Given the description of an element on the screen output the (x, y) to click on. 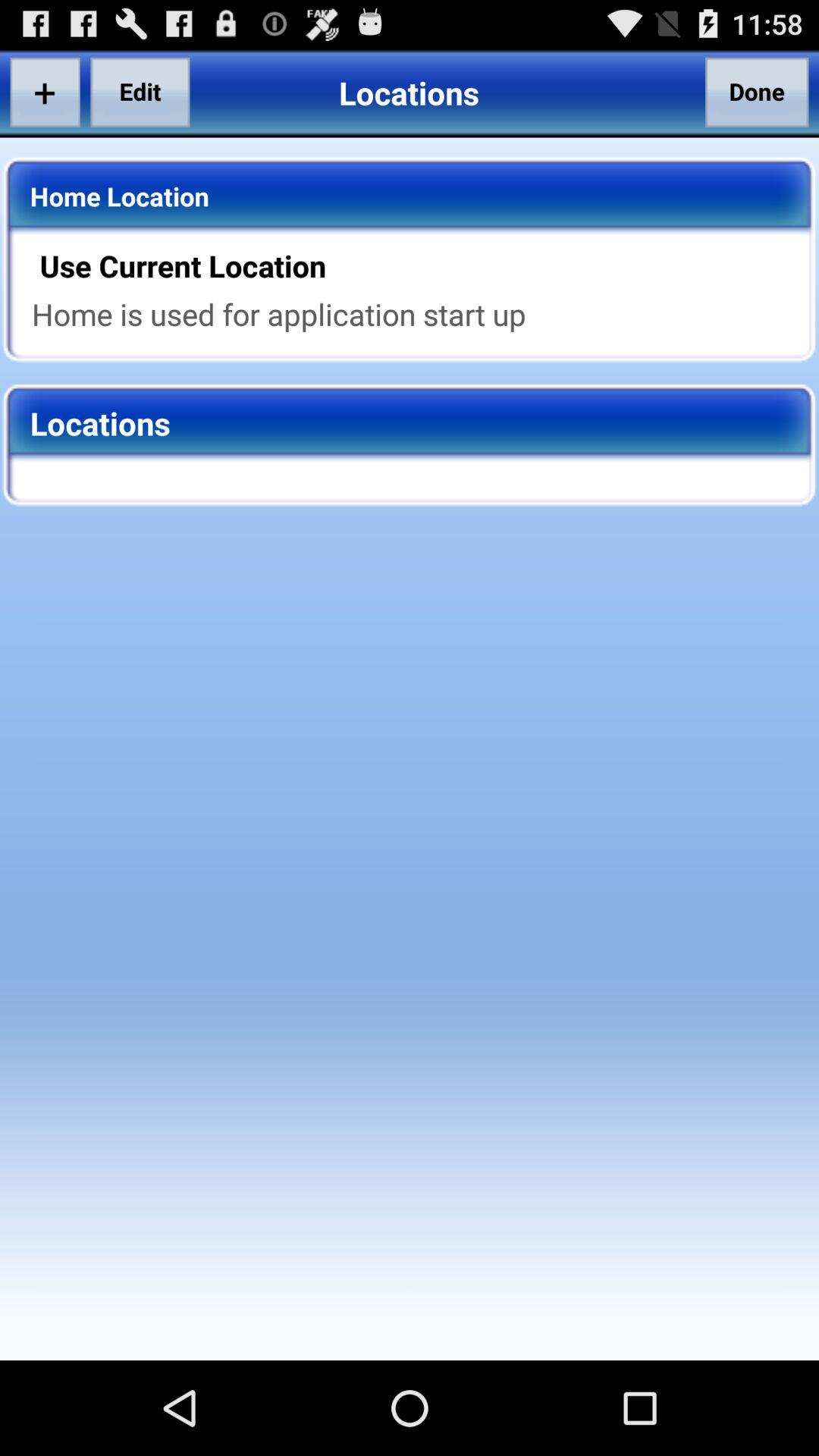
click item to the left of edit icon (45, 92)
